Given the description of an element on the screen output the (x, y) to click on. 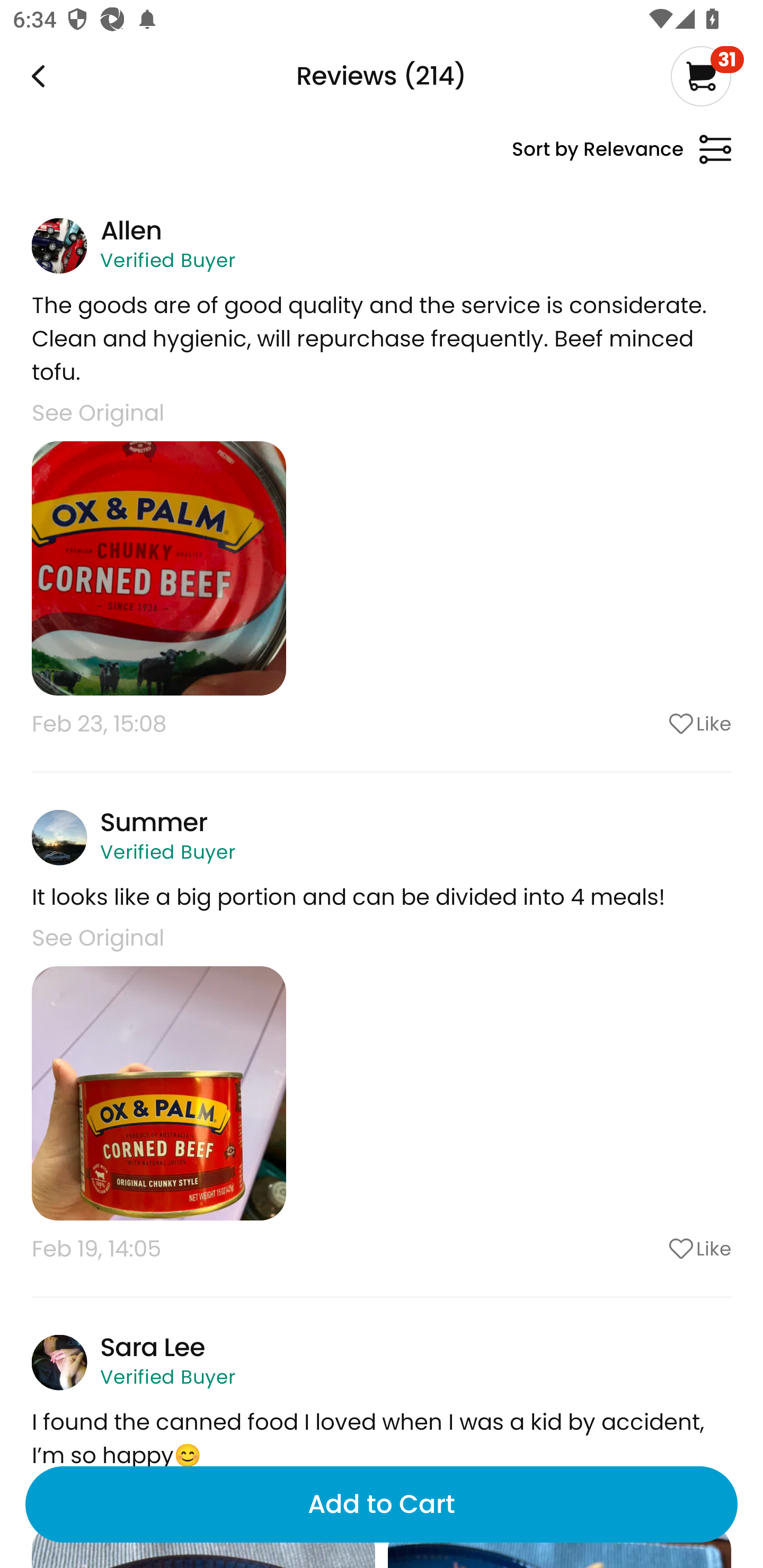
31 (706, 75)
Sort by Relevance (620, 157)
Allen (130, 230)
Verified Buyer (167, 260)
See Original (98, 412)
Like (651, 723)
Summer (153, 822)
Verified Buyer (167, 851)
See Original (98, 937)
Like (651, 1248)
Sara Lee (152, 1347)
Verified Buyer (167, 1377)
Add to Cart (381, 1504)
Add to Cart (381, 1504)
